Given the description of an element on the screen output the (x, y) to click on. 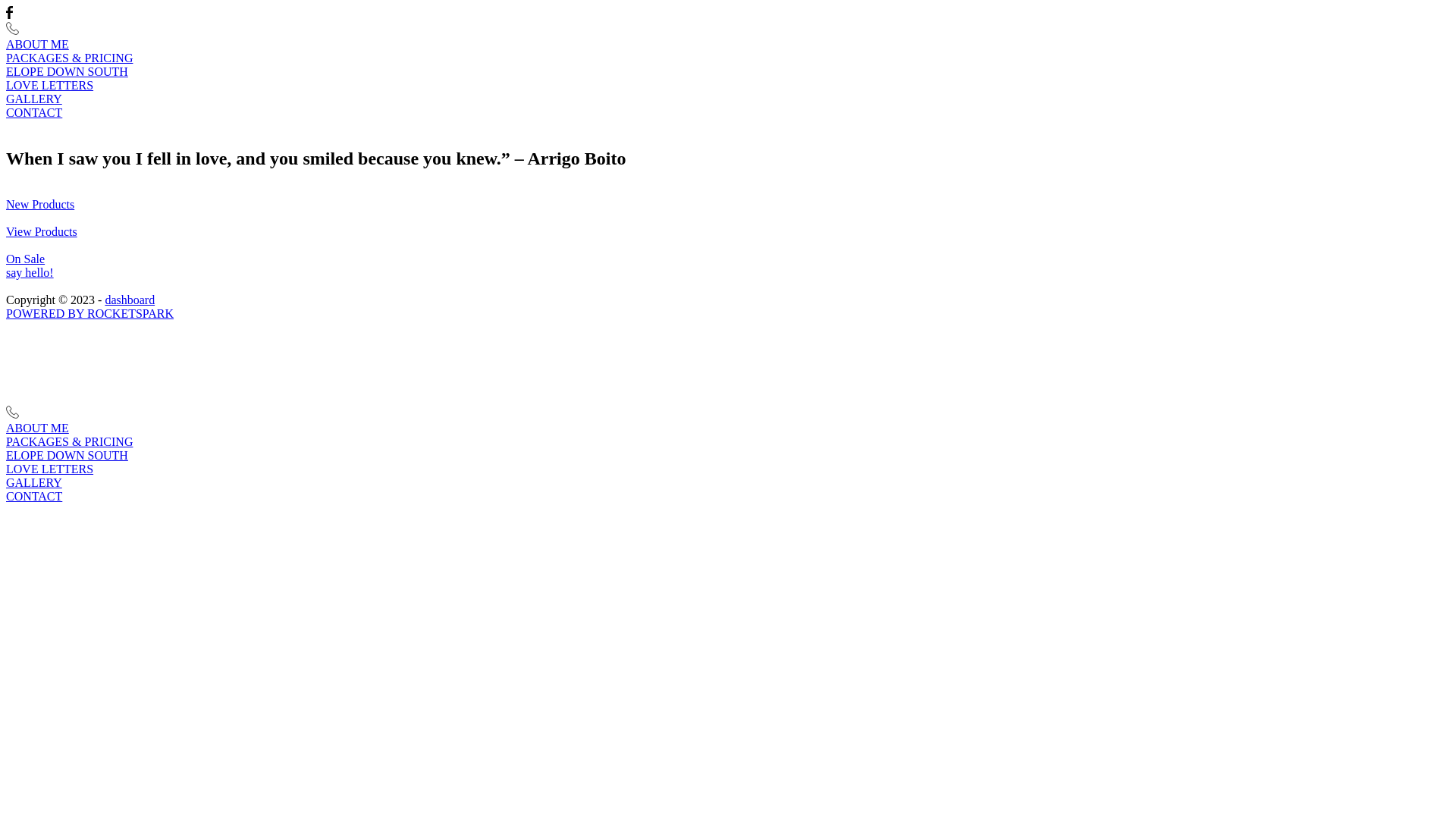
dashboard Element type: text (129, 299)
ABOUT ME Element type: text (727, 428)
Shape Created with Sketch. Element type: text (12, 413)
ABOUT ME Element type: text (727, 44)
Rocketspark website builder Element type: hover (385, 398)
GALLERY Element type: text (727, 99)
CONTACT Element type: text (727, 112)
A link to this website's Facebook. Element type: hover (9, 14)
LOVE LETTERS Element type: text (727, 85)
PACKAGES & PRICING Element type: text (727, 441)
LOVE LETTERS Element type: text (727, 469)
PACKAGES & PRICING Element type: text (727, 58)
say hello! Element type: text (29, 272)
Shape Created with Sketch. Element type: text (12, 30)
CONTACT Element type: text (727, 496)
View Products Element type: text (41, 231)
POWERED BY ROCKETSPARK Element type: text (89, 313)
On Sale Element type: text (25, 258)
GALLERY Element type: text (727, 482)
ELOPE DOWN SOUTH Element type: text (727, 455)
ELOPE DOWN SOUTH Element type: text (727, 71)
New Products Element type: text (40, 203)
